Given the description of an element on the screen output the (x, y) to click on. 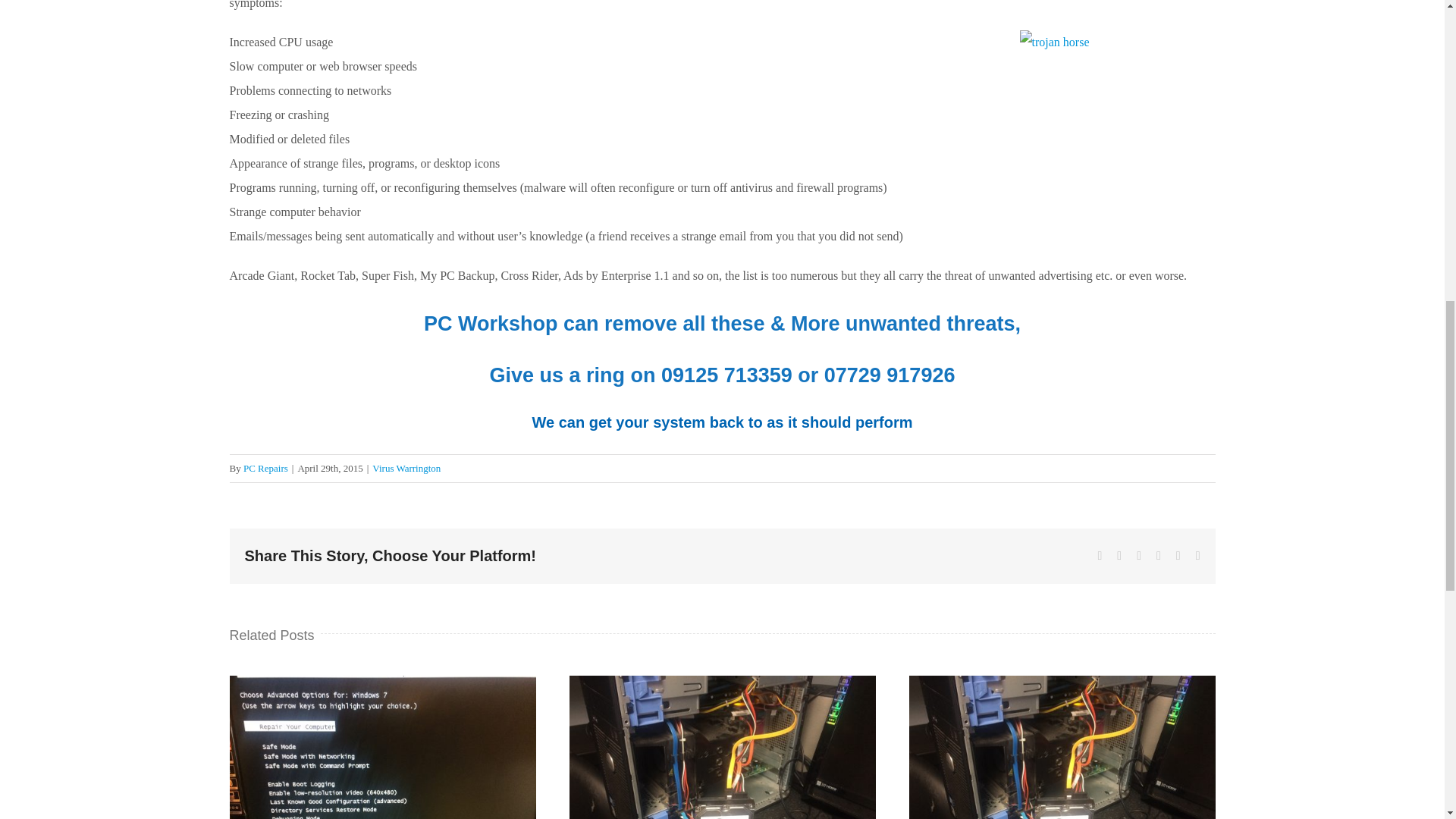
Posts by PC Repairs (265, 468)
PC Repairs (265, 468)
